Given the description of an element on the screen output the (x, y) to click on. 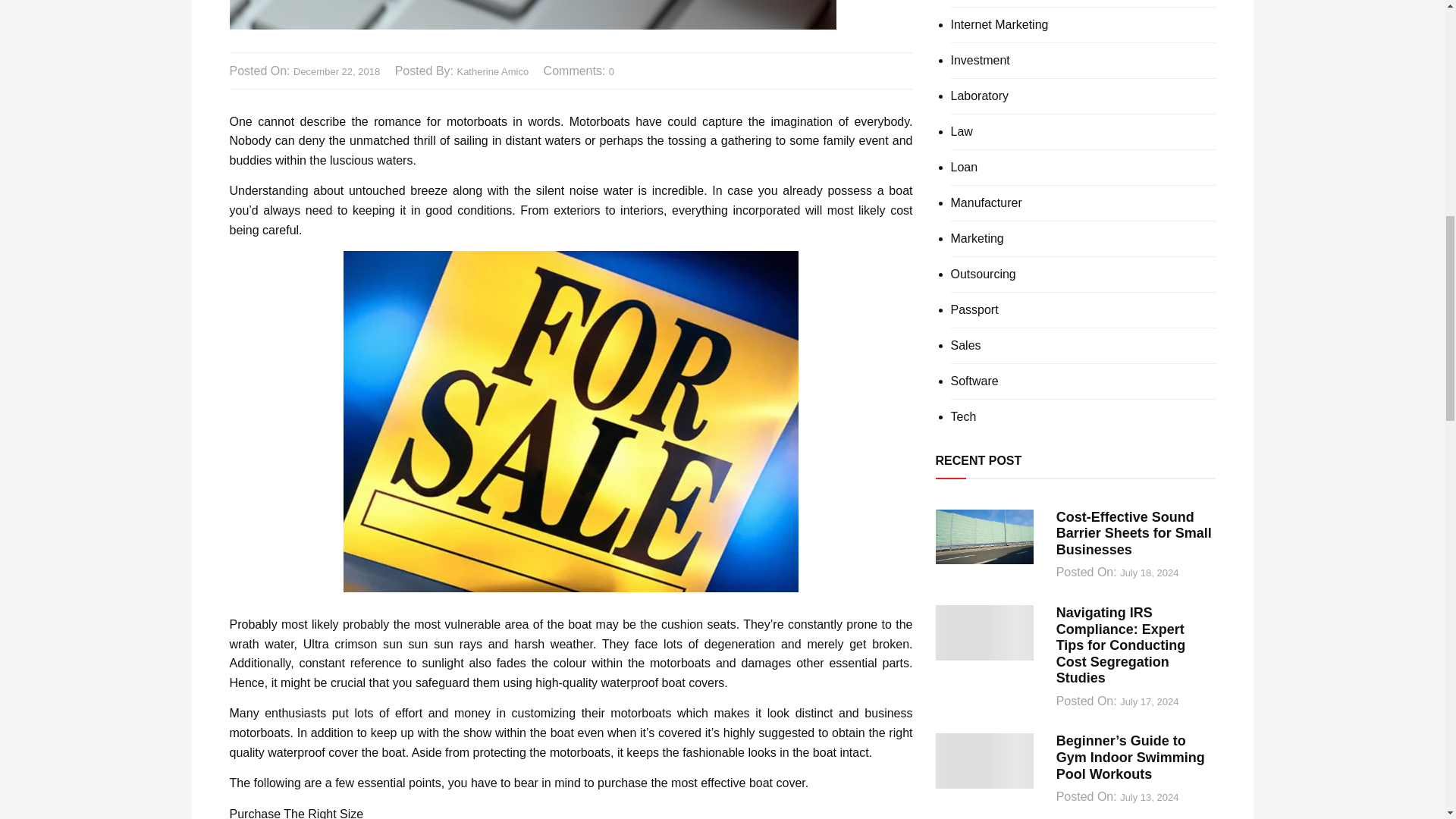
Internet Marketing (999, 24)
Investment (980, 60)
December 22, 2018 (337, 72)
Laboratory (979, 96)
Katherine Amico (492, 72)
